Given the description of an element on the screen output the (x, y) to click on. 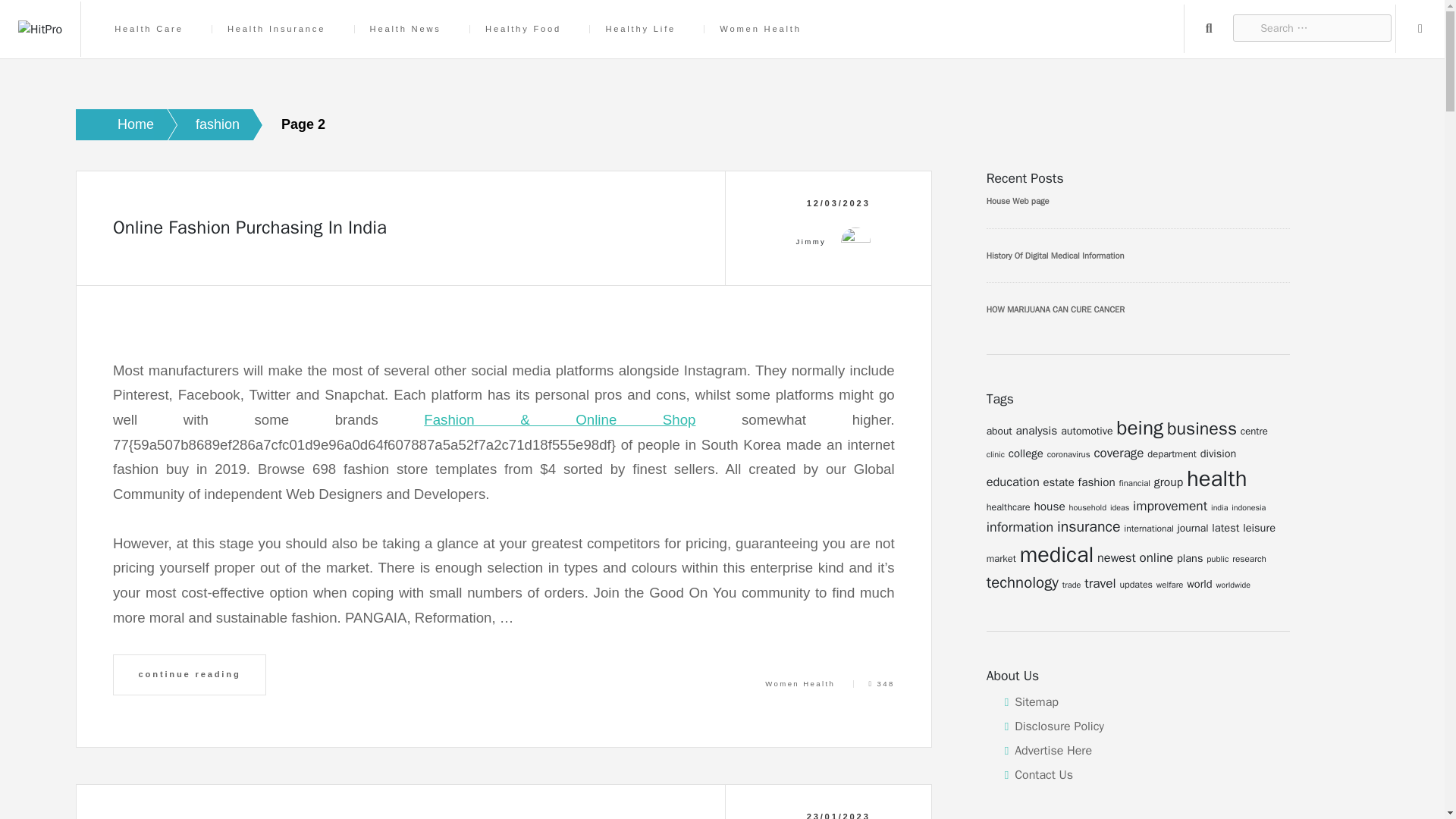
fashion (197, 124)
Home (114, 124)
Search (1366, 49)
Women Health (799, 683)
Jimmy (811, 241)
Online Fashion Purchasing In India (250, 227)
Healthy Food (668, 50)
Women Health (906, 50)
continue reading (189, 674)
Health Care (295, 50)
